Given the description of an element on the screen output the (x, y) to click on. 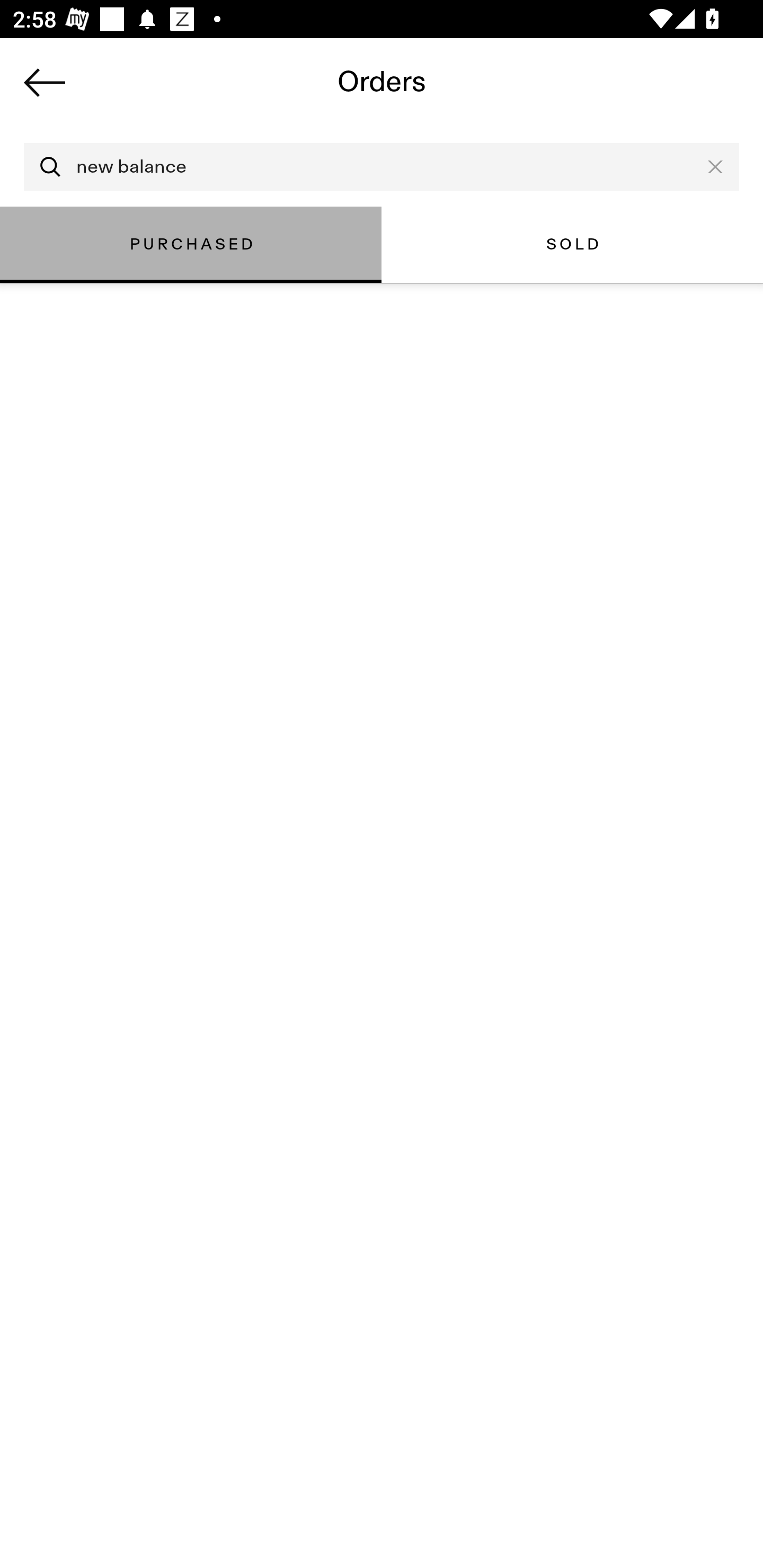
Navigate up (44, 82)
new balance (381, 166)
SOLD (572, 244)
